Given the description of an element on the screen output the (x, y) to click on. 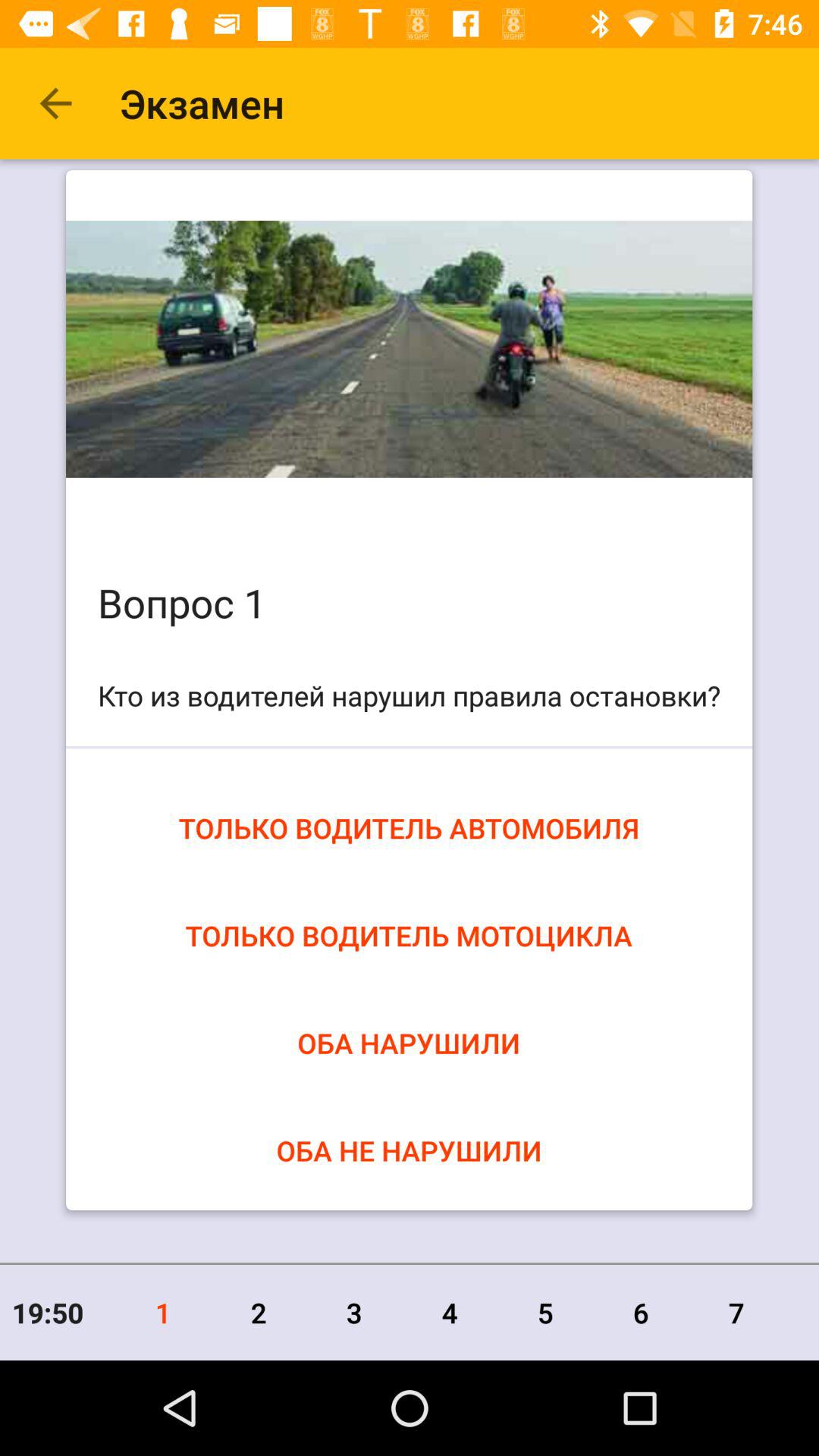
select item next to 2 icon (354, 1312)
